Given the description of an element on the screen output the (x, y) to click on. 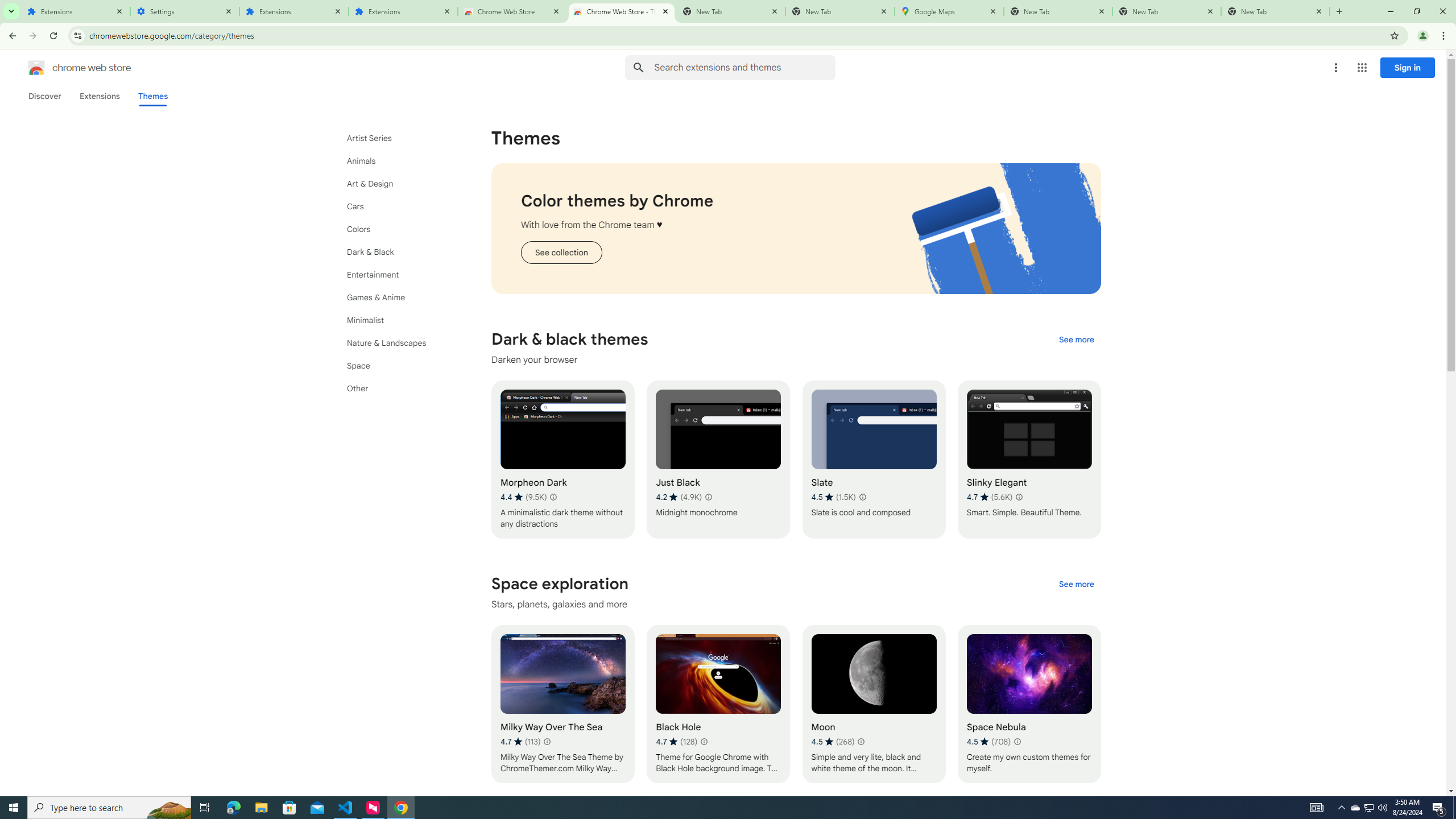
Games & Anime (398, 296)
Chrome Web Store logo chrome web store (67, 67)
Learn more about results and reviews "Slate" (862, 496)
Minimalist (398, 319)
Space Nebula (1028, 703)
List of categories in Chrome Web Store. (398, 262)
See more of the "Space exploration" collection (1075, 583)
Average rating 4.7 out of 5 stars. 5.6K ratings. (988, 496)
Themes (152, 95)
See more of the "Dark & black themes" collection (1075, 338)
